Given the description of an element on the screen output the (x, y) to click on. 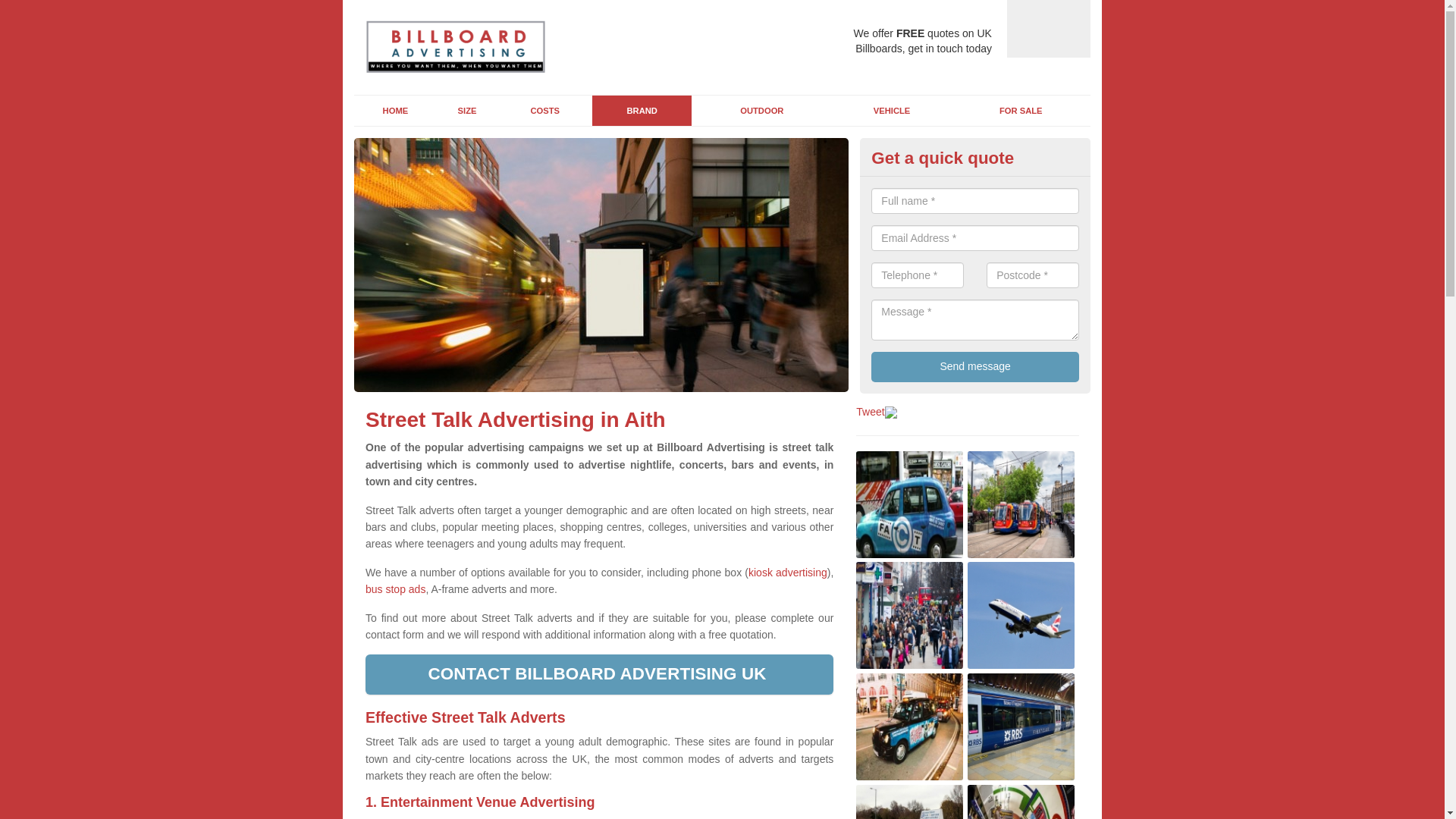
FOR SALE (1021, 110)
High Street Advertising in Aith 5 (909, 726)
High Street Advertising in Aith 1 (909, 504)
OUTDOOR (761, 110)
COSTS (544, 110)
High Street Advertising in Aith 3 (909, 615)
High Street Advertising in Aith 7 (909, 801)
High Street Advertising in Aith 4 (1021, 615)
High Street Advertising in Aith 2 (1021, 504)
SIZE (466, 110)
Send message (974, 367)
HOME (394, 110)
Header (455, 47)
VEHICLE (892, 110)
BRAND (641, 110)
